Given the description of an element on the screen output the (x, y) to click on. 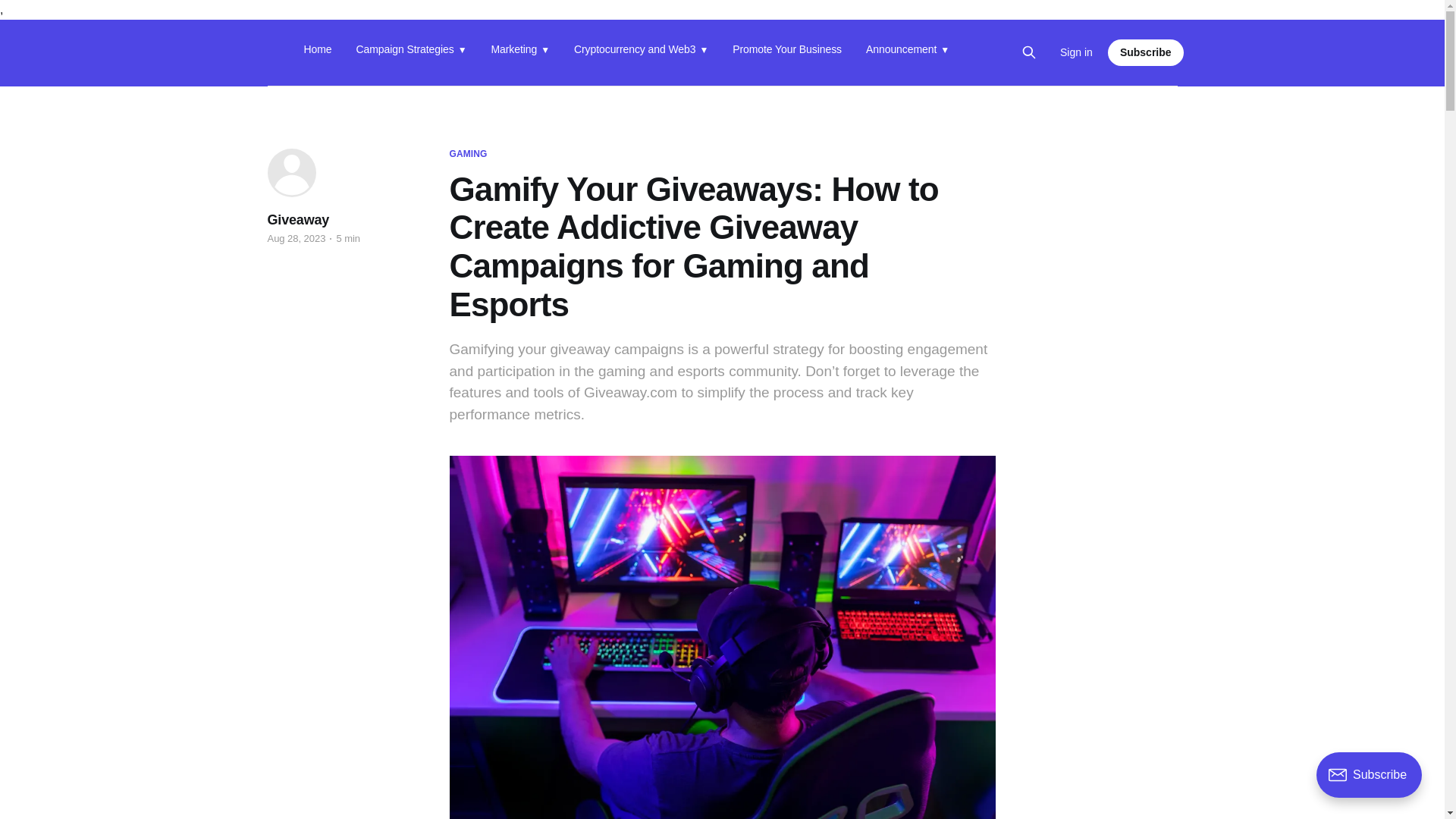
Subscribe (1145, 52)
Announcement (907, 51)
Campaign Strategies (411, 51)
Cryptocurrency and Web3 (640, 51)
Promote Your Business (786, 51)
Marketing (520, 51)
Sign in (1076, 52)
Home (316, 51)
